Given the description of an element on the screen output the (x, y) to click on. 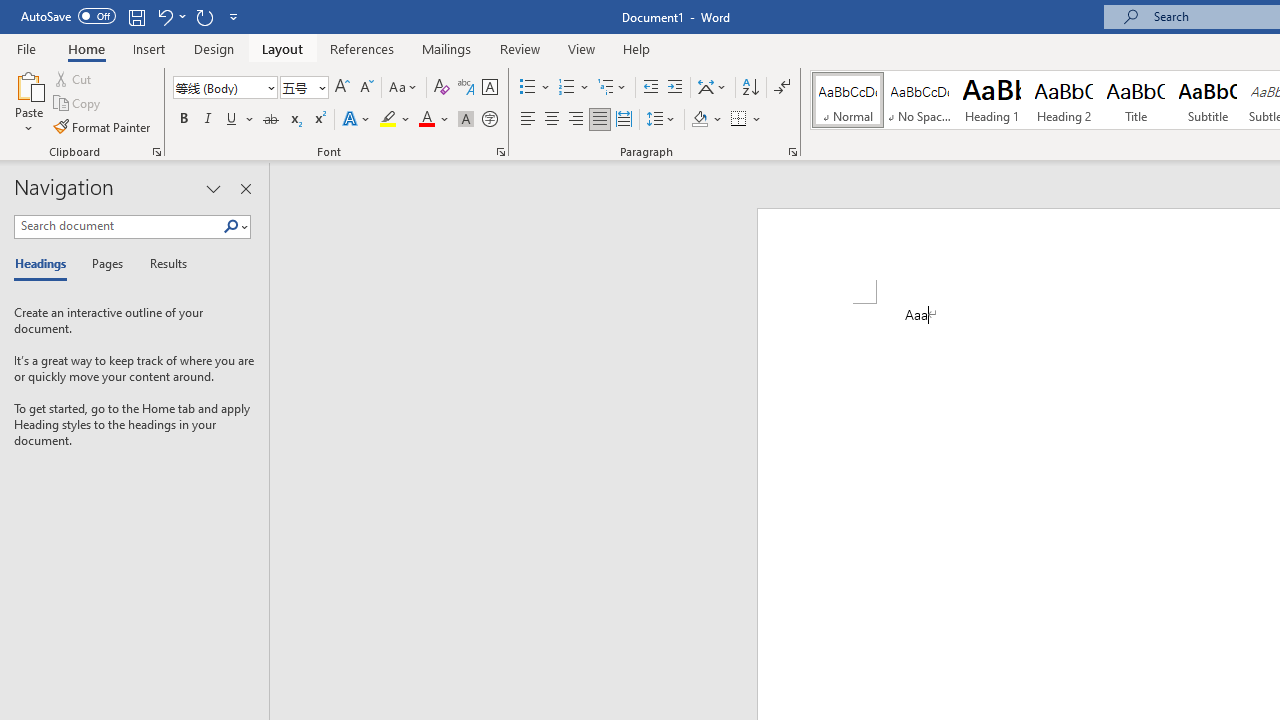
Align Right (575, 119)
Distributed (623, 119)
Undo Increase Indent (170, 15)
Bold (183, 119)
Enclose Characters... (489, 119)
Shrink Font (365, 87)
Character Shading (465, 119)
Center (552, 119)
